Given the description of an element on the screen output the (x, y) to click on. 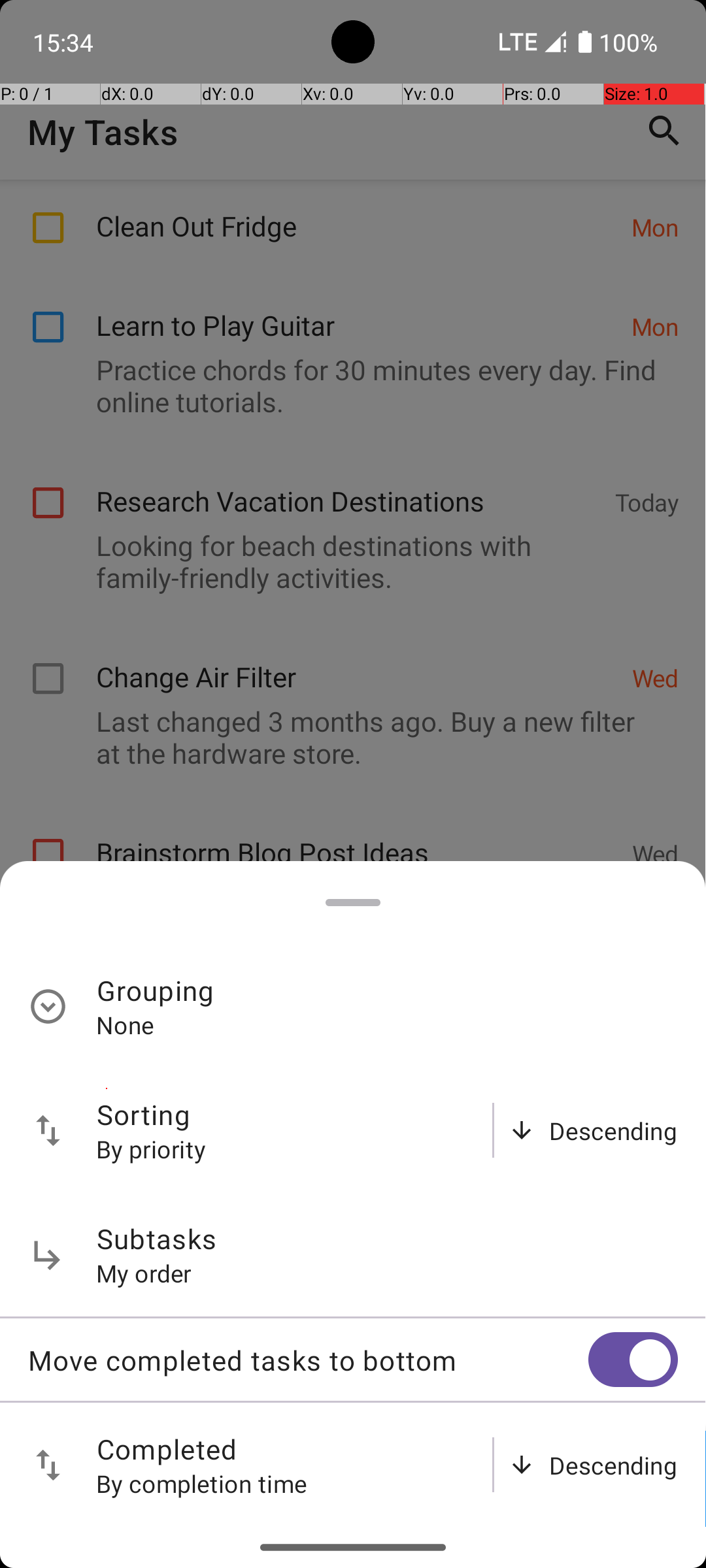
Grouping Element type: android.widget.TextView (155, 989)
Sorting Element type: android.widget.TextView (143, 1113)
By priority Element type: android.widget.TextView (151, 1148)
My order Element type: android.widget.TextView (144, 1273)
Move completed tasks to bottom Element type: android.widget.TextView (307, 1359)
Completed Element type: android.widget.TextView (166, 1448)
By completion time Element type: android.widget.TextView (201, 1483)
Descending Element type: android.widget.TextView (613, 1130)
